Given the description of an element on the screen output the (x, y) to click on. 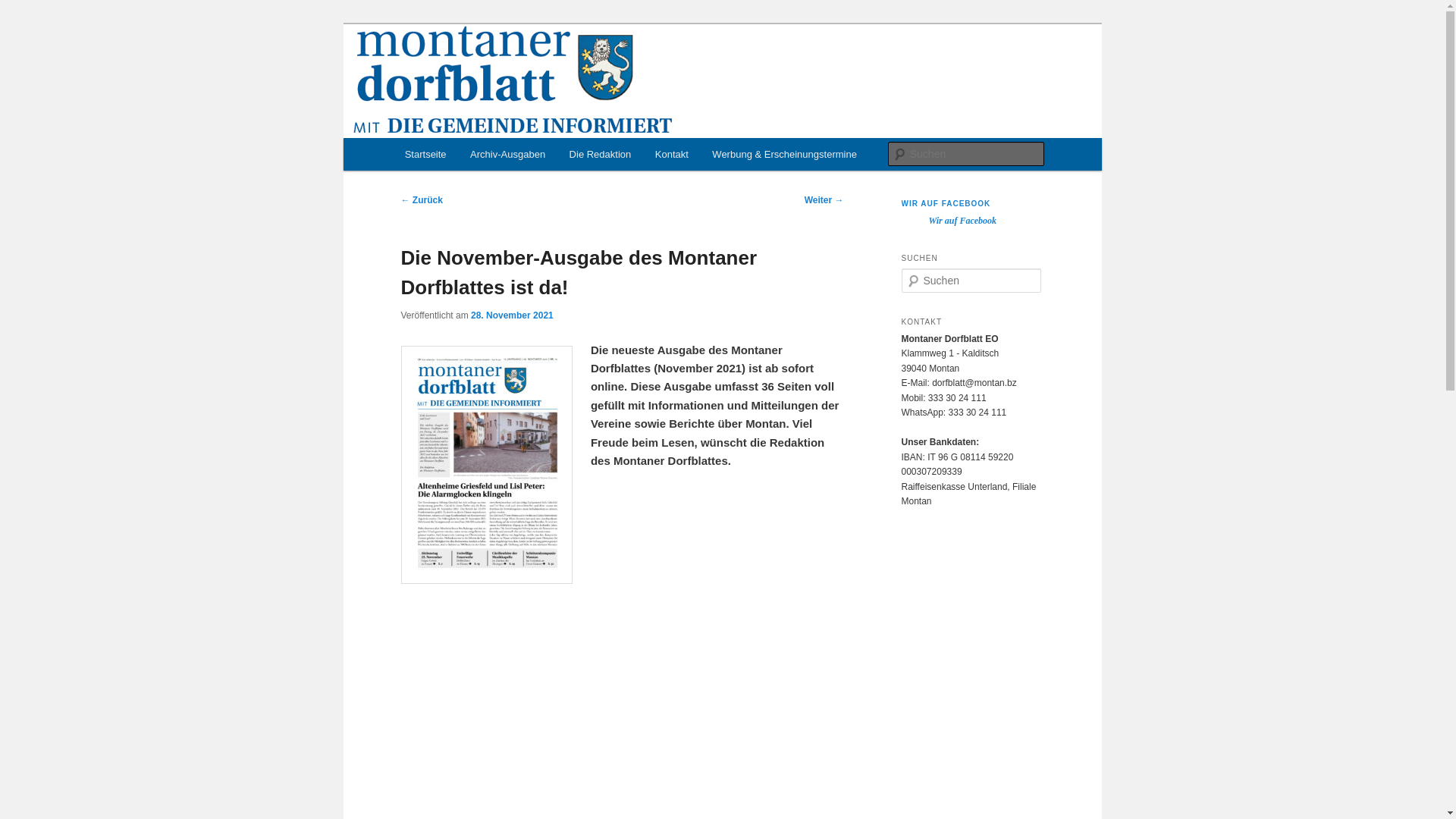
Wir auf Facebook Element type: text (962, 220)
Zum Inhalt wechseln Element type: text (22, 22)
Die Redaktion Element type: text (600, 154)
Kontakt Element type: text (671, 154)
Archiv-Ausgaben Element type: text (507, 154)
Suchen Element type: text (21, 10)
Startseite Element type: text (425, 154)
28. November 2021 Element type: text (511, 315)
Werbung & Erscheinungstermine Element type: text (784, 154)
WIR AUF FACEBOOK Element type: text (945, 203)
Suchen Element type: text (25, 8)
